Given the description of an element on the screen output the (x, y) to click on. 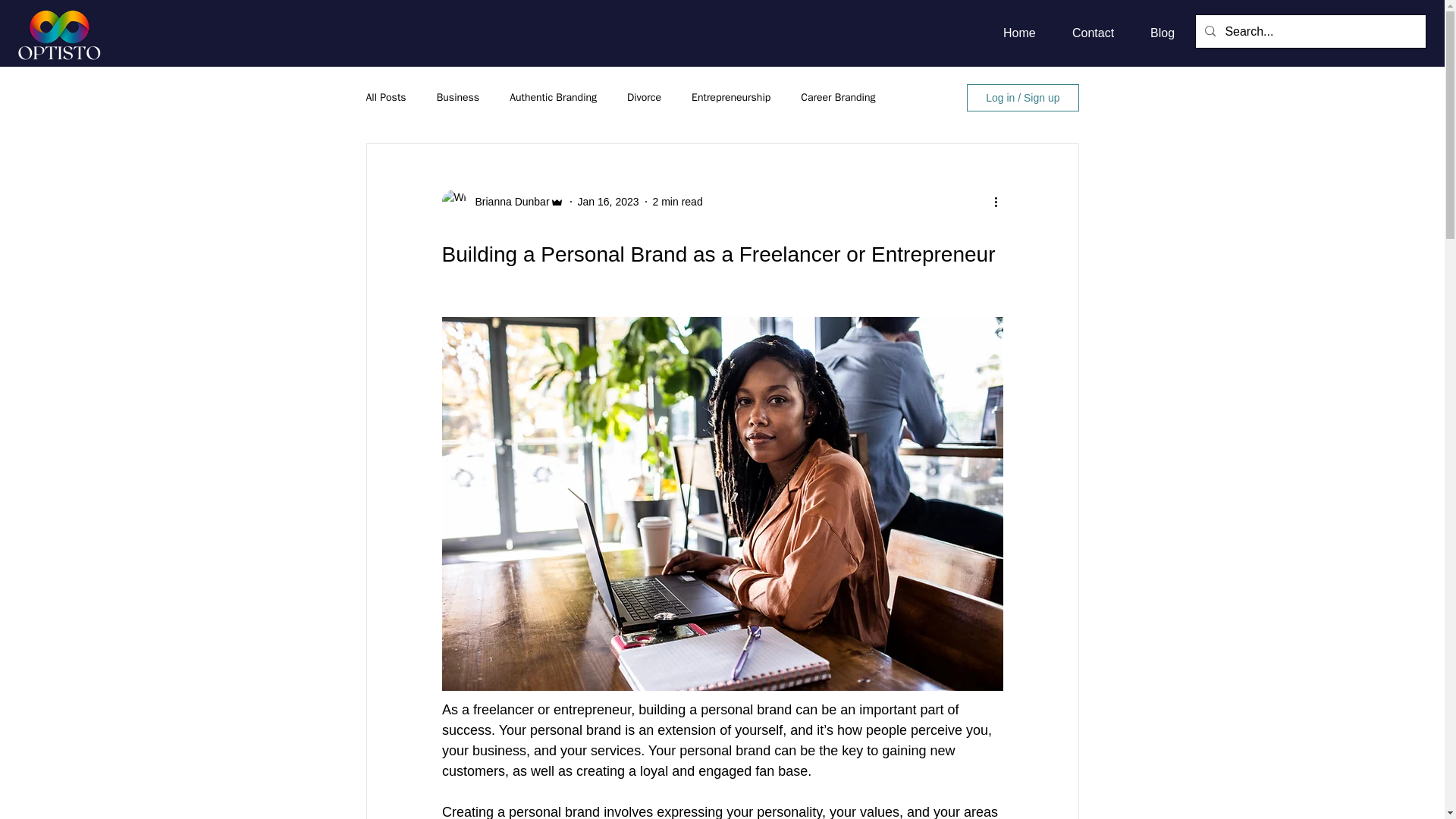
Home (1026, 33)
Contact (1099, 33)
Brianna Dunbar (506, 201)
Career Branding (837, 97)
All Posts (385, 97)
Entrepreneurship (730, 97)
Jan 16, 2023 (608, 201)
Authentic Branding (552, 97)
Blog (1168, 33)
2 min read (677, 201)
